Given the description of an element on the screen output the (x, y) to click on. 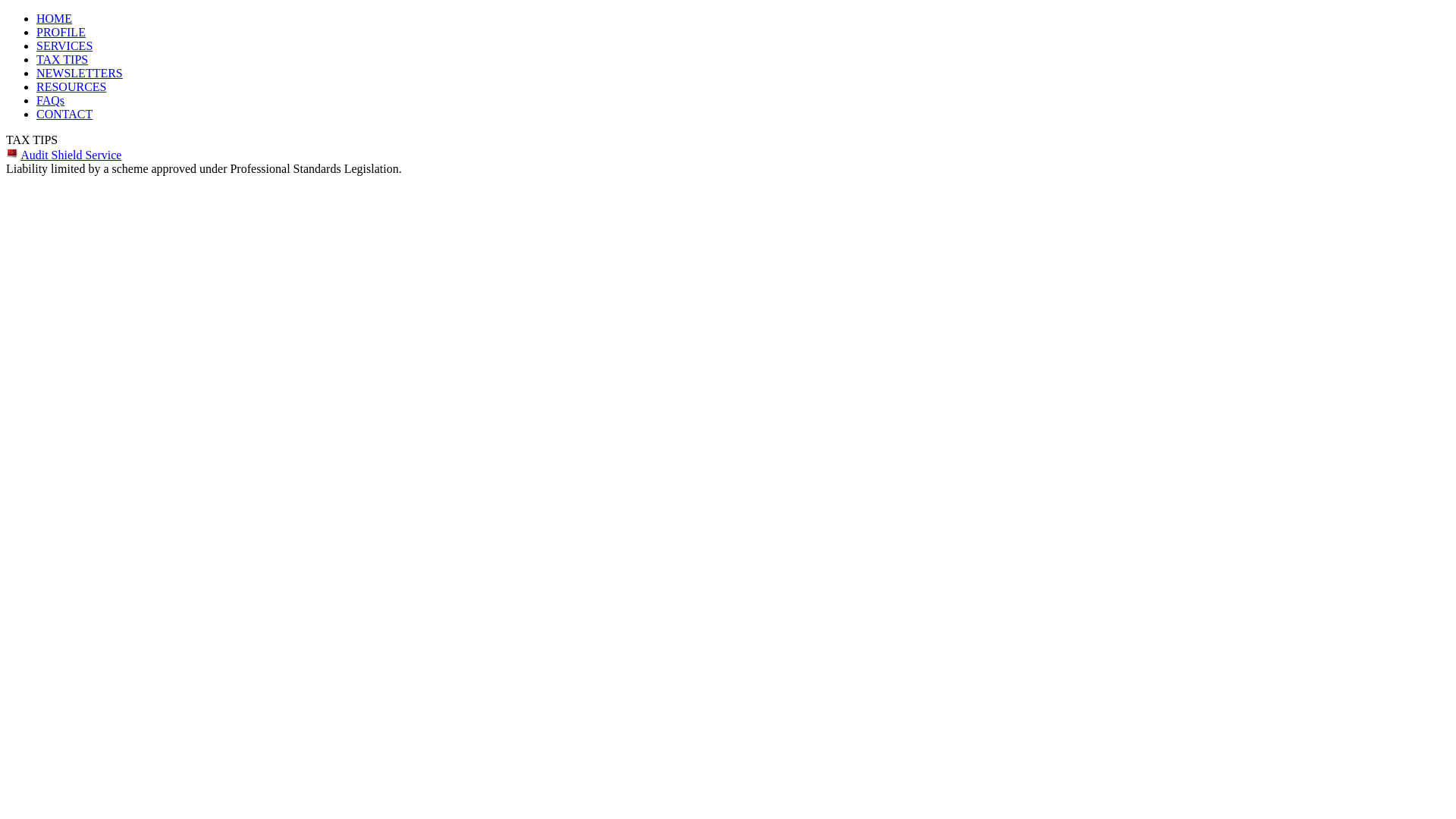
FAQs Element type: text (50, 100)
NEWSLETTERS Element type: text (79, 72)
TAX TIPS Element type: text (61, 59)
CONTACT Element type: text (64, 113)
SERVICES Element type: text (64, 45)
RESOURCES Element type: text (71, 86)
PROFILE Element type: text (60, 31)
Audit Shield Service Element type: text (70, 154)
HOME Element type: text (54, 18)
